Given the description of an element on the screen output the (x, y) to click on. 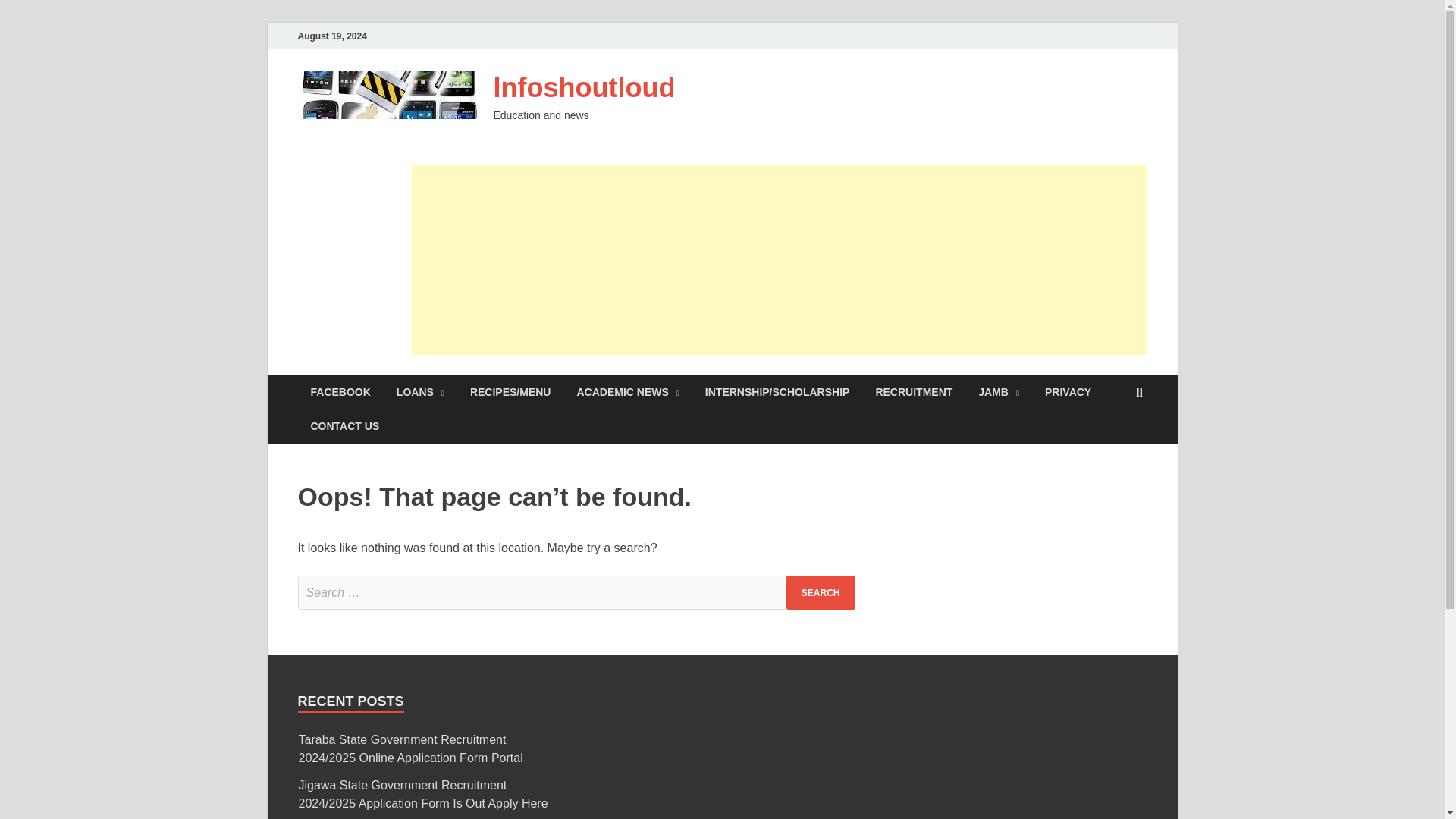
Infoshoutloud (584, 87)
RECRUITMENT (913, 392)
Search (821, 592)
JAMB (998, 392)
PRIVACY (1067, 392)
FACEBOOK (339, 392)
Search (821, 592)
CONTACT US (344, 426)
ACADEMIC NEWS (627, 392)
